Given the description of an element on the screen output the (x, y) to click on. 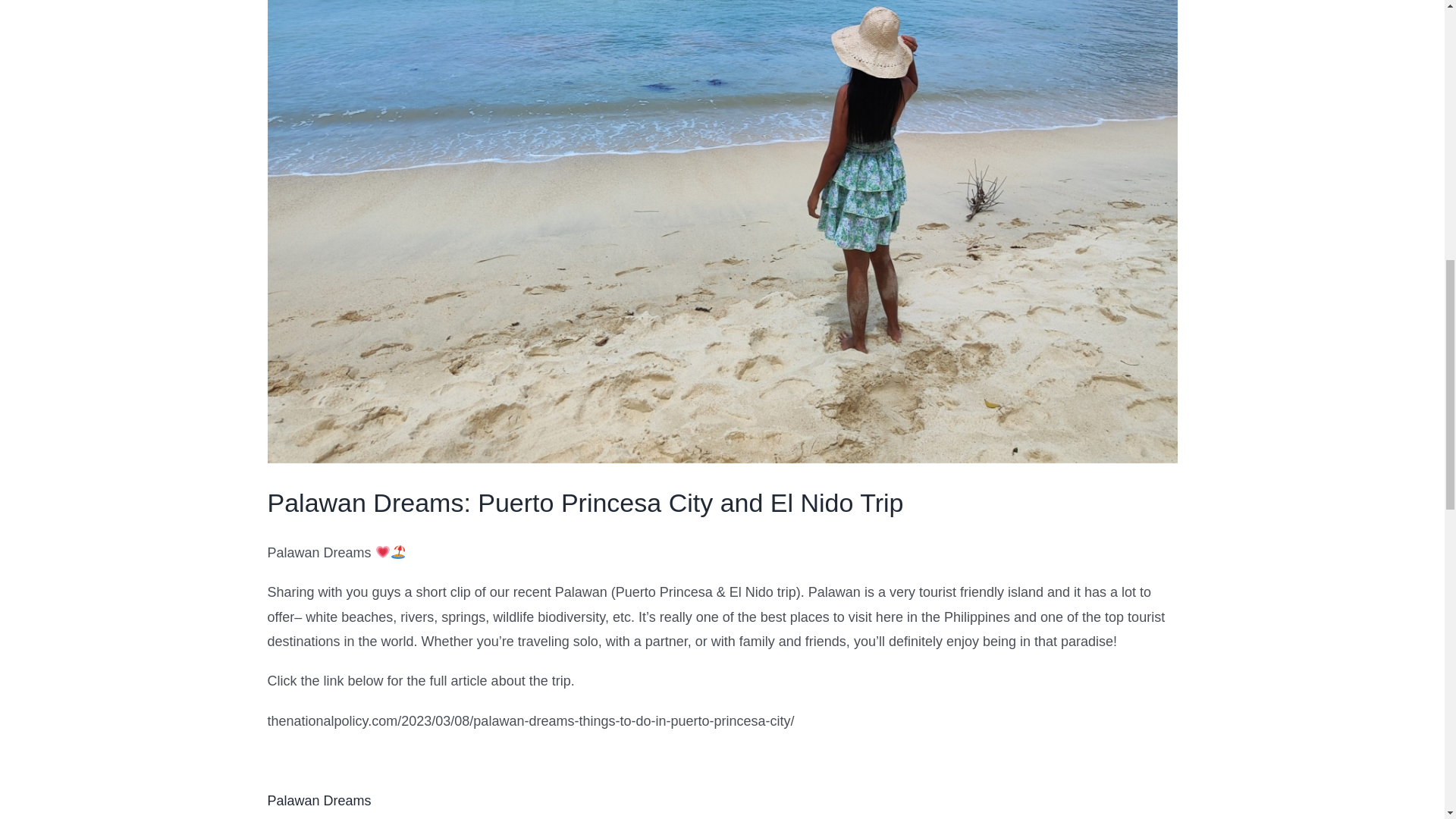
Palawan Dreams (318, 800)
